Given the description of an element on the screen output the (x, y) to click on. 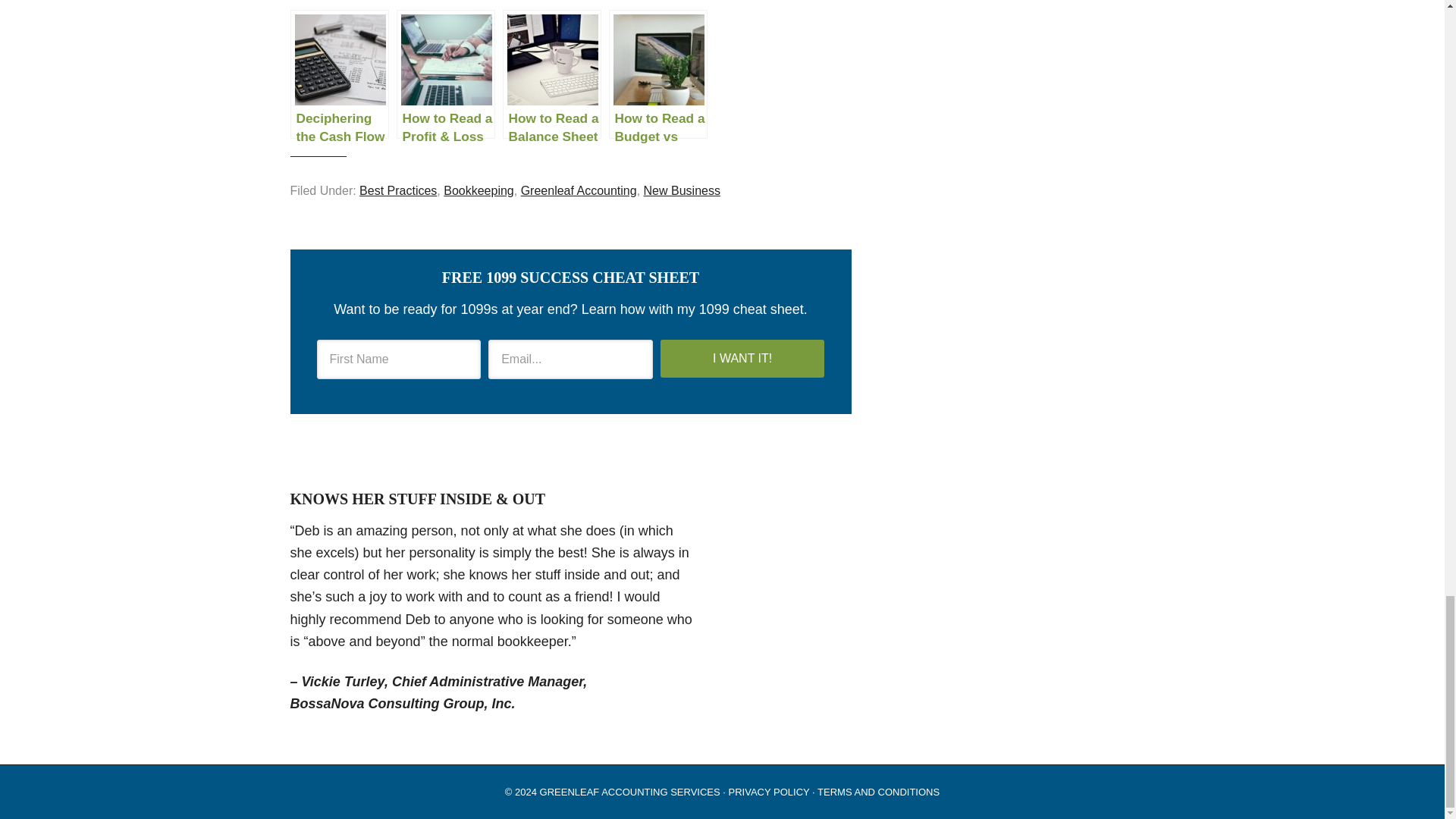
New Business (681, 190)
Greenleaf Accounting (579, 190)
Deciphering the Cash Flow Statement (338, 73)
How to Read a Budget vs Actual Report (657, 73)
How to Read a Balance Sheet (551, 73)
How to Read a Budget vs Actual Report (657, 73)
I want it! (743, 357)
I want it! (743, 357)
Bookkeeping (478, 190)
Deciphering the Cash Flow Statement (338, 73)
Best Practices (397, 190)
How to Read a Balance Sheet (551, 73)
